Given the description of an element on the screen output the (x, y) to click on. 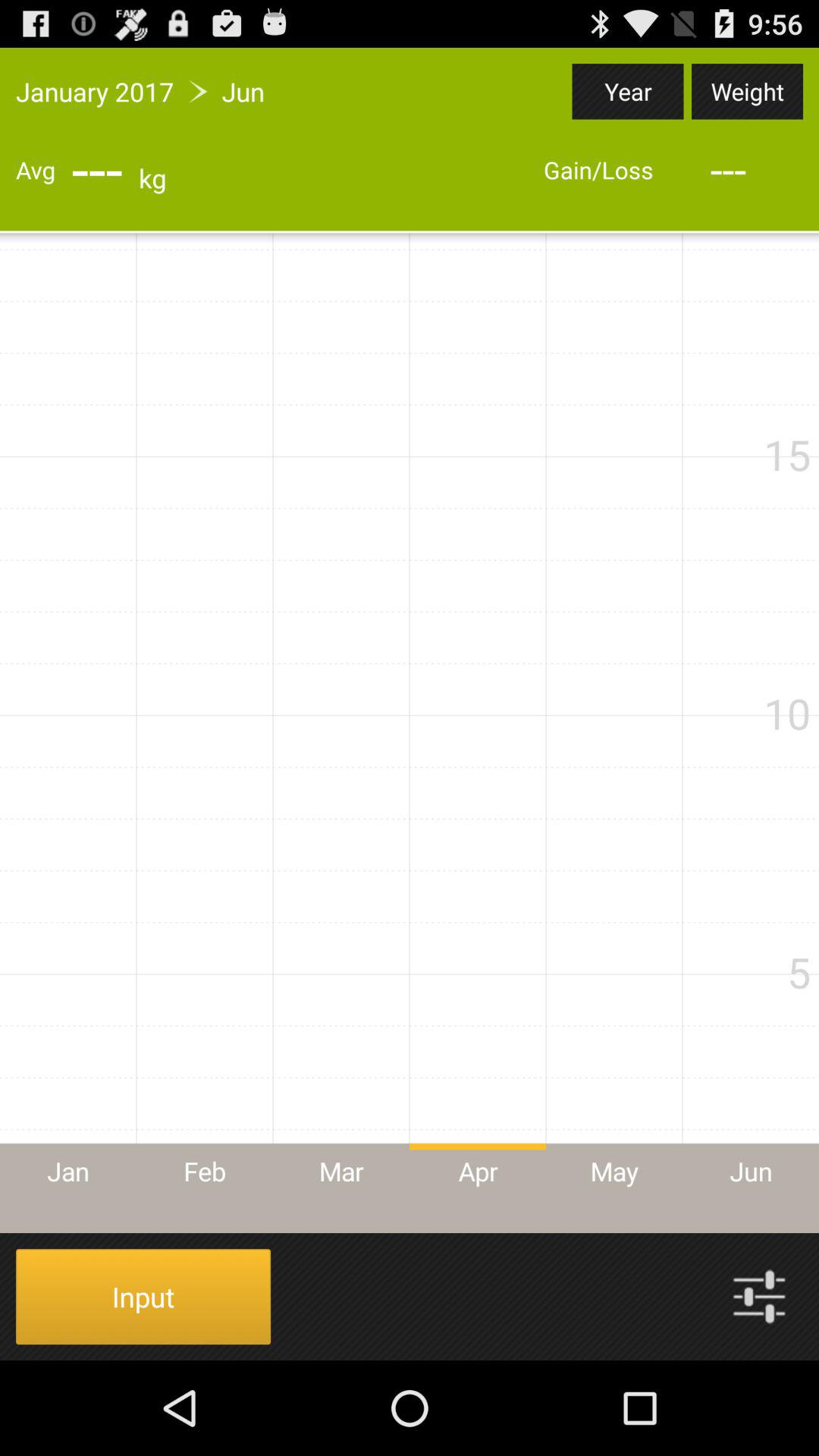
turn off the icon to the right of jun icon (627, 91)
